Given the description of an element on the screen output the (x, y) to click on. 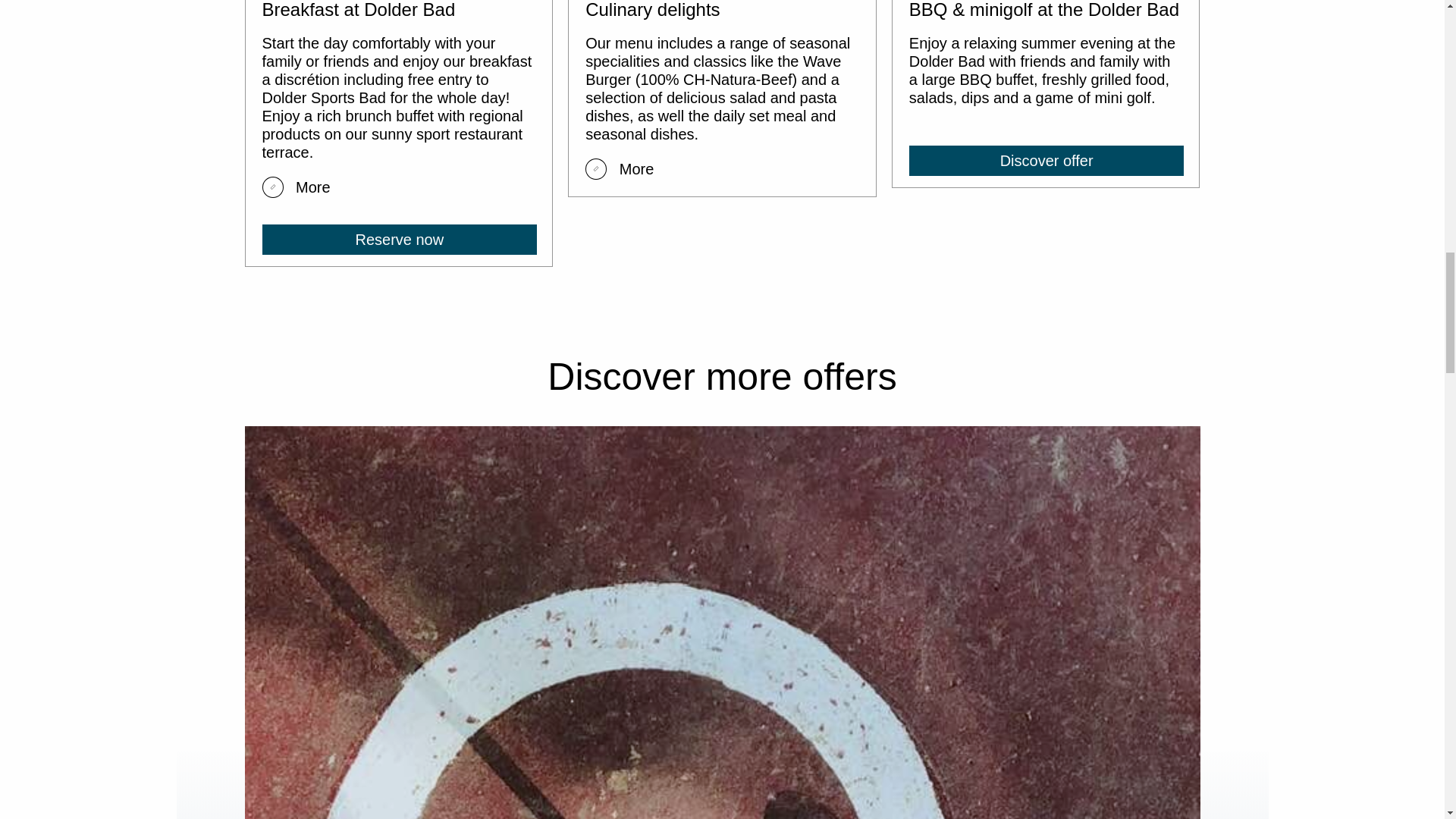
Discover offer (1046, 160)
More (619, 168)
Reserve now (399, 239)
More (296, 187)
